Given the description of an element on the screen output the (x, y) to click on. 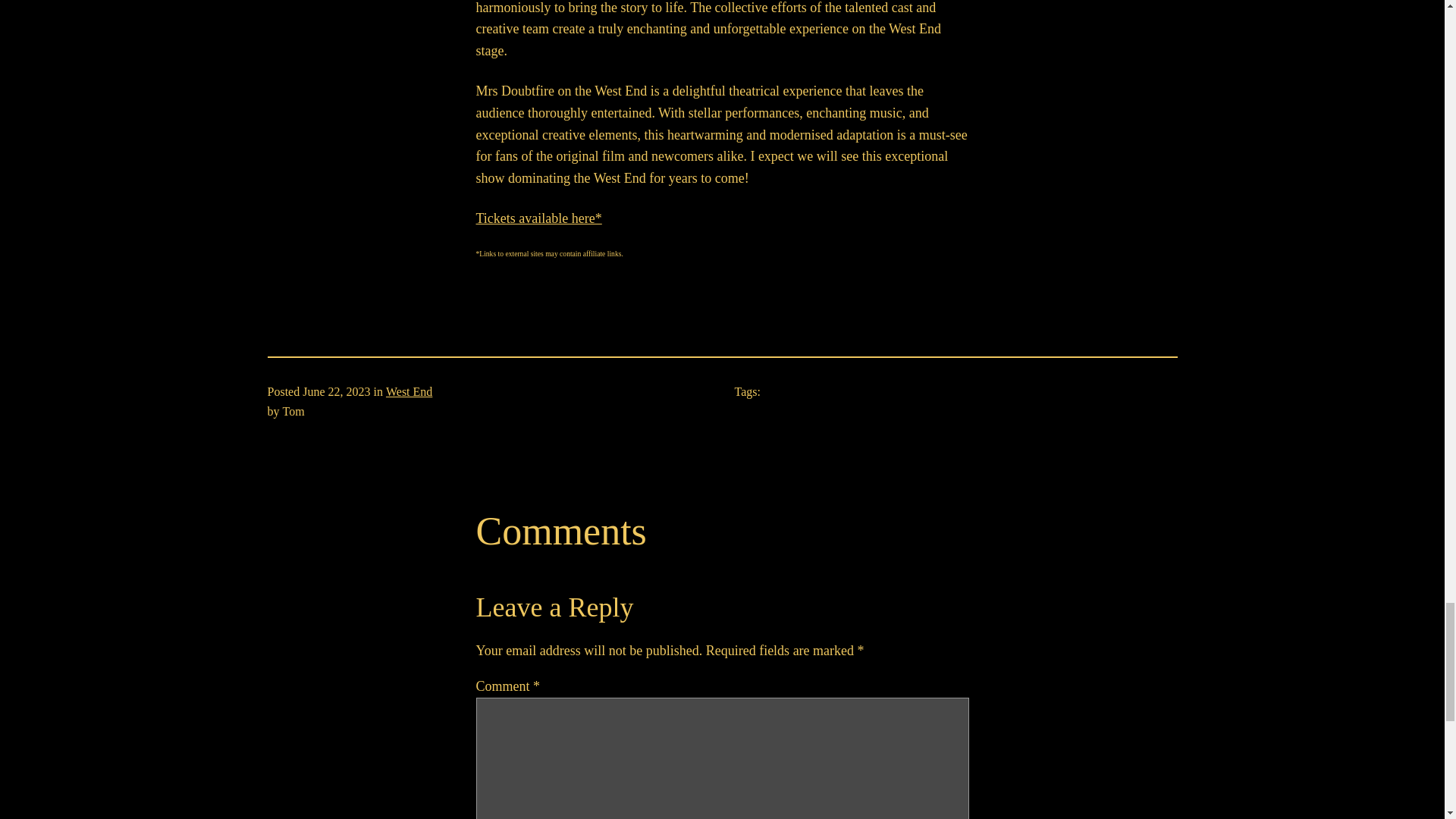
West End (408, 391)
